Given the description of an element on the screen output the (x, y) to click on. 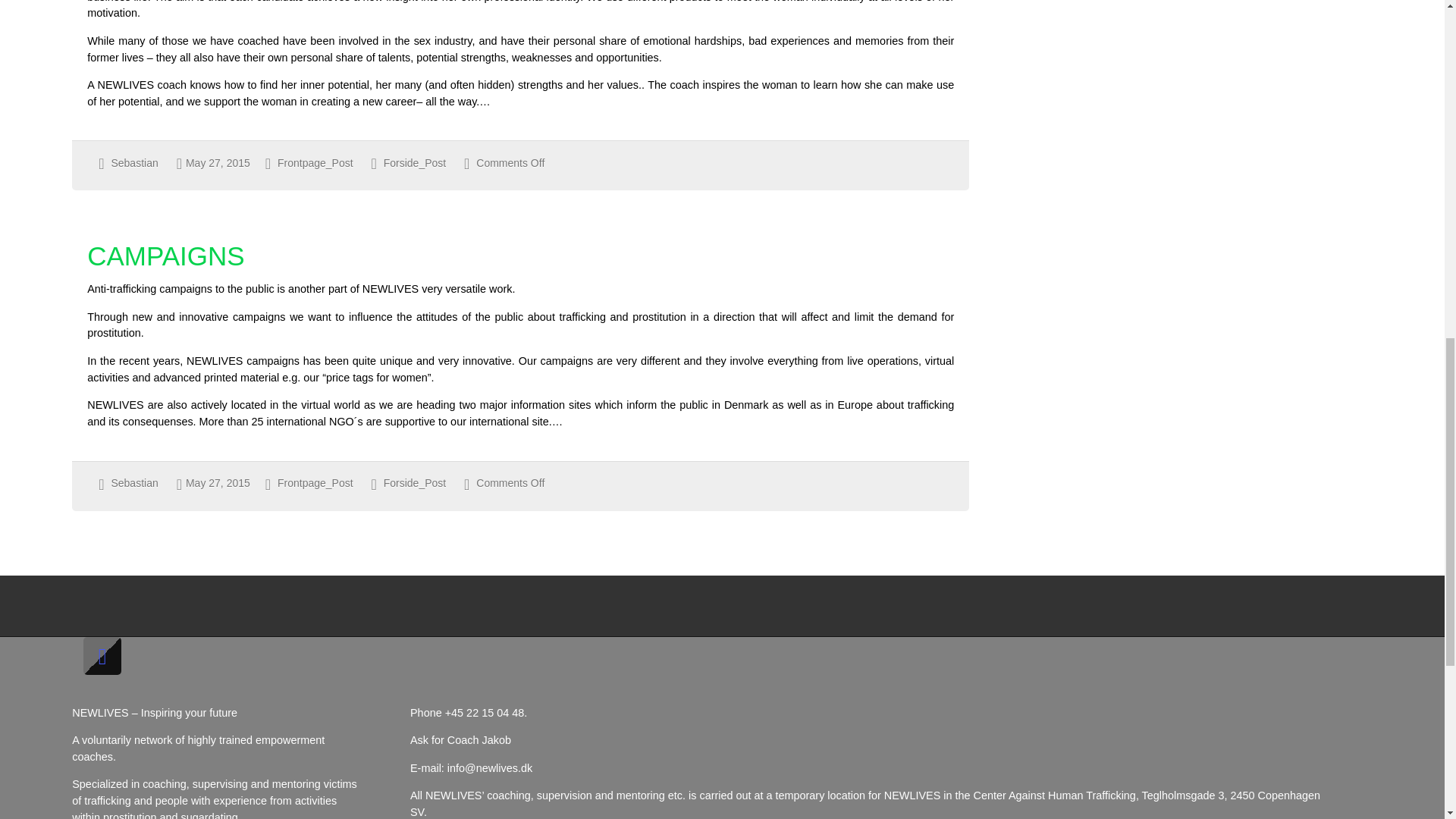
Posts by Sebastian (133, 162)
Posts by Sebastian (133, 482)
